Given the description of an element on the screen output the (x, y) to click on. 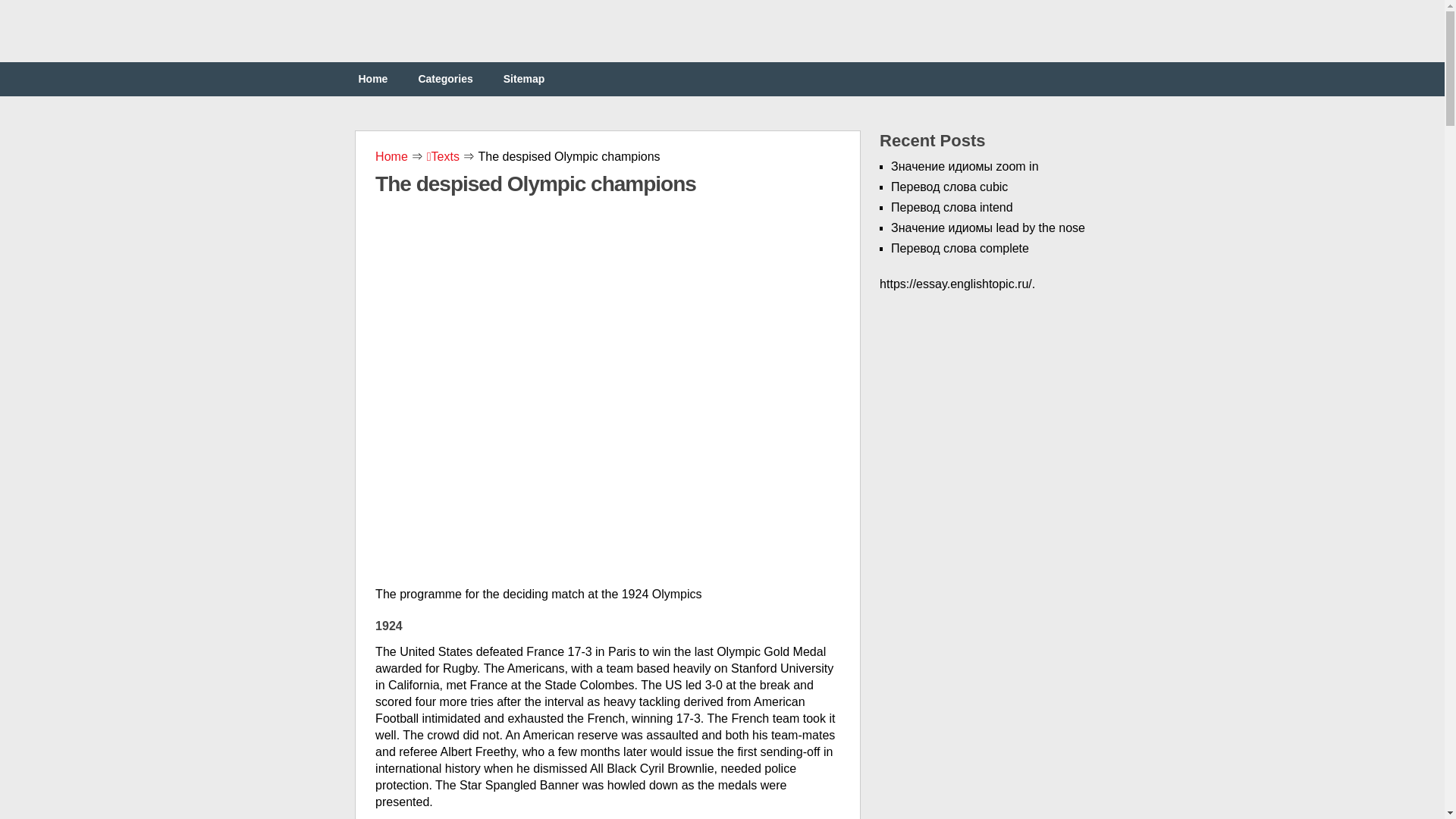
Home (372, 79)
Sitemap (523, 79)
Home (392, 155)
Categories (445, 79)
